Given the description of an element on the screen output the (x, y) to click on. 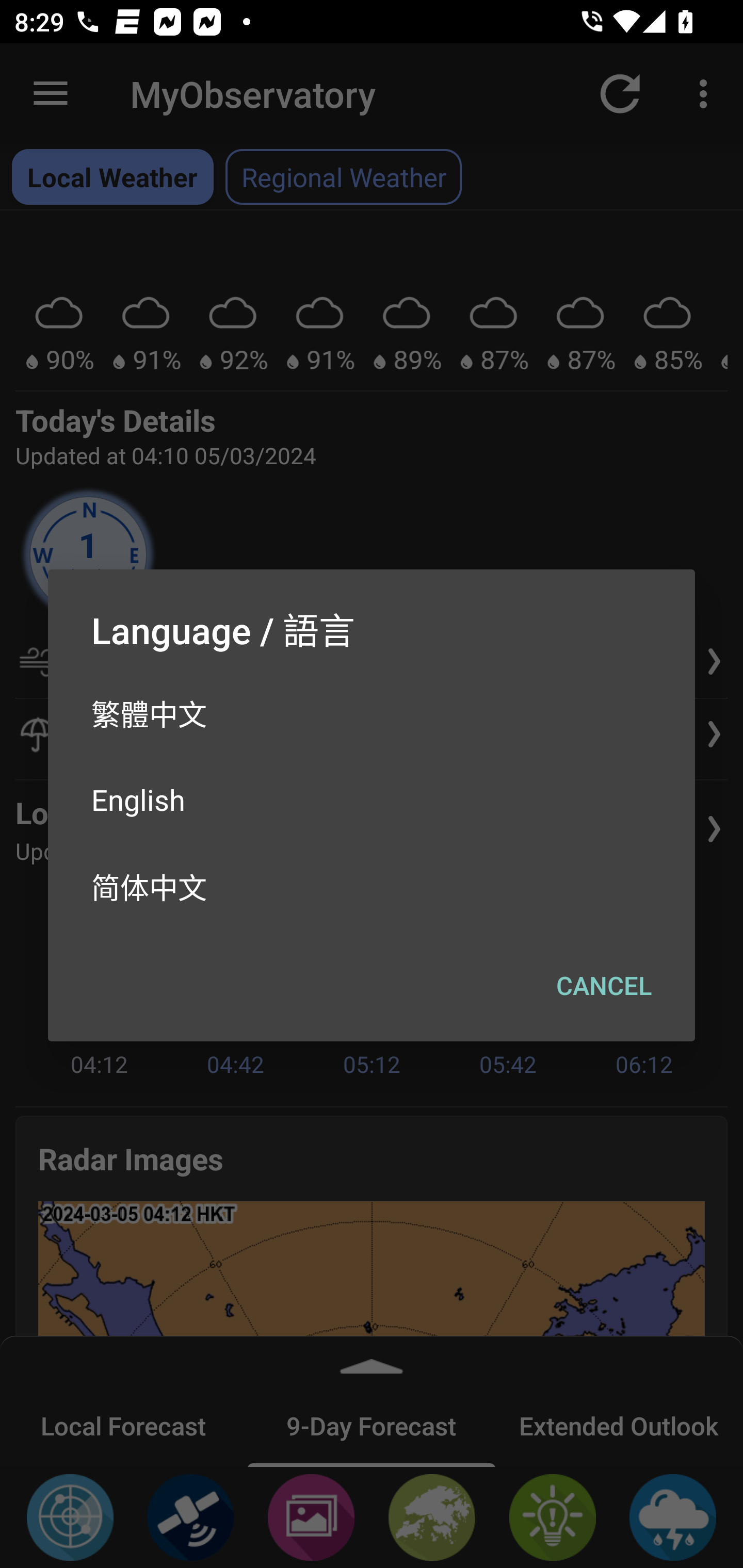
繁體中文 (371, 712)
English (371, 799)
简体中文 (371, 886)
CANCEL (603, 985)
